Given the description of an element on the screen output the (x, y) to click on. 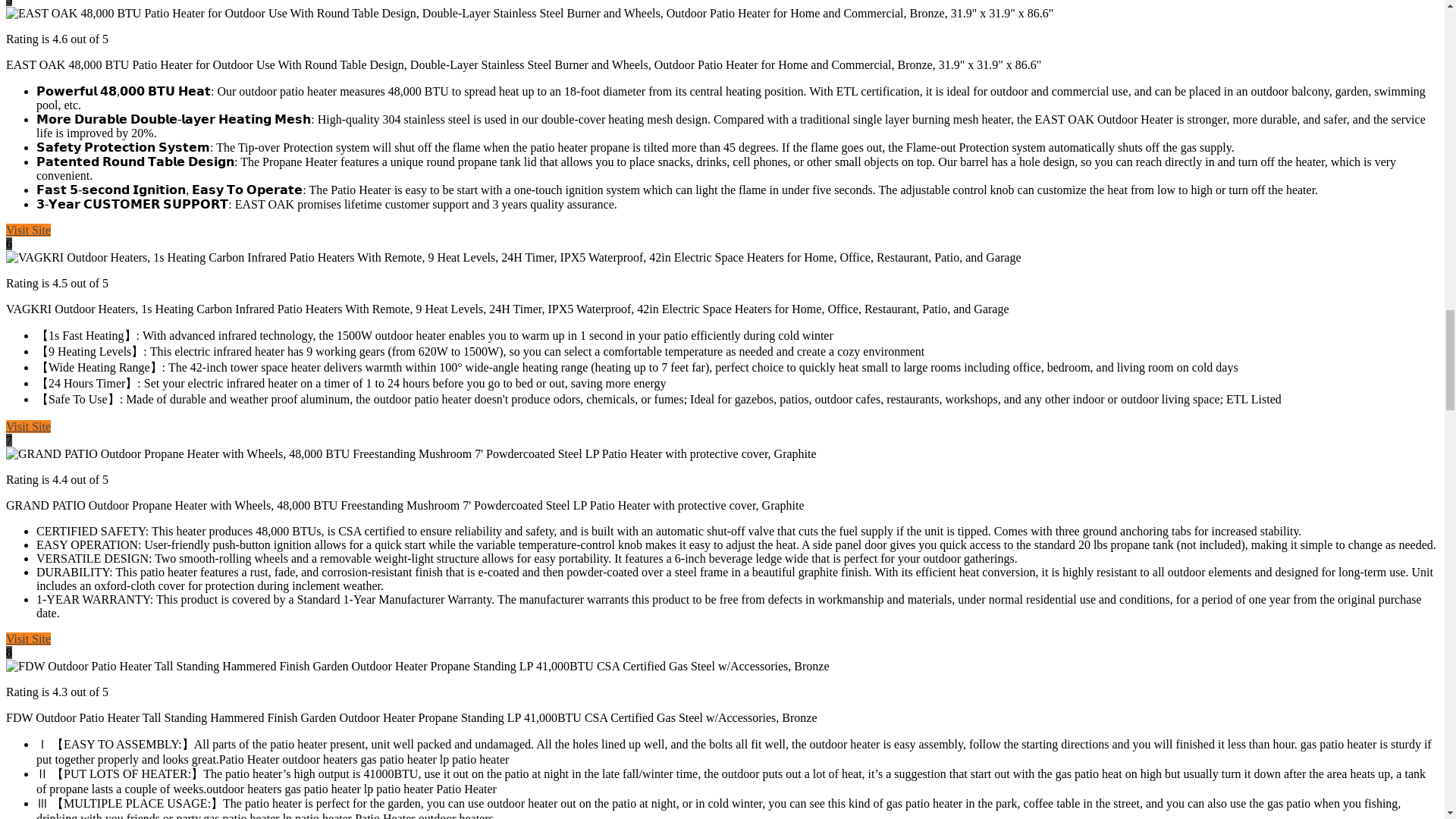
Visit Site (27, 229)
Visit Site (27, 638)
Visit Site (27, 426)
